Given the description of an element on the screen output the (x, y) to click on. 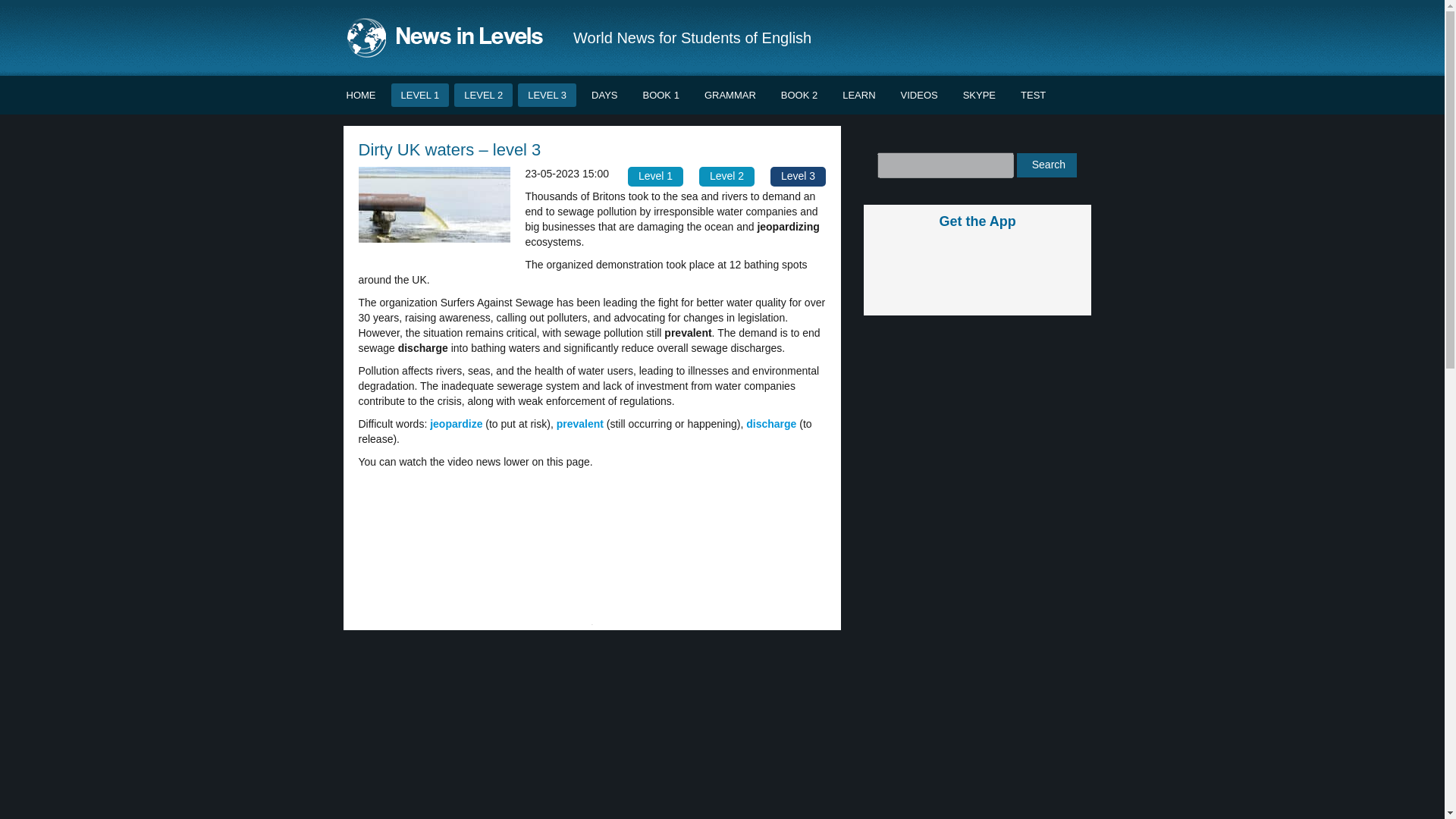
HOME (360, 95)
VIDEOS (919, 95)
DAYS (603, 95)
LEVEL 1 (420, 95)
BOOK 2 (799, 95)
LEVEL 2 (483, 95)
TEST (1032, 95)
Search (1046, 165)
Level 1 (654, 176)
SKYPE (979, 95)
